Given the description of an element on the screen output the (x, y) to click on. 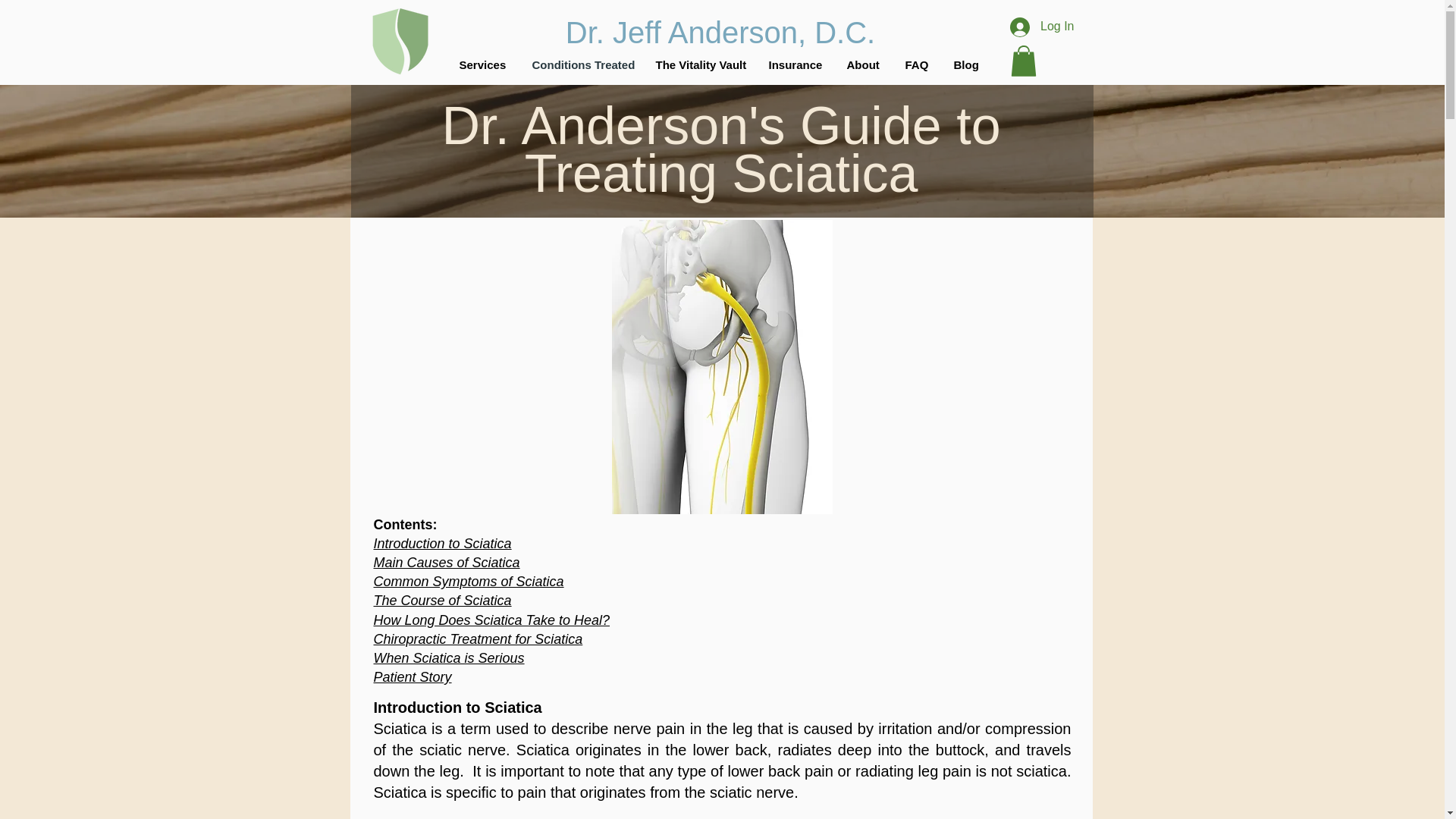
Common Symptoms of Sciatica (467, 581)
The Course of Sciatica (441, 600)
Conditions Treated (581, 65)
How Long Does Sciatica Take to Heal? (491, 620)
Introduction to Sciatica (441, 543)
Patient Story (411, 676)
Chiropractic Treatment for Sciatica (477, 639)
When Sciatica is Serious (448, 657)
The Vitality Vault (701, 65)
Main Causes of Sciatica (445, 562)
